Given the description of an element on the screen output the (x, y) to click on. 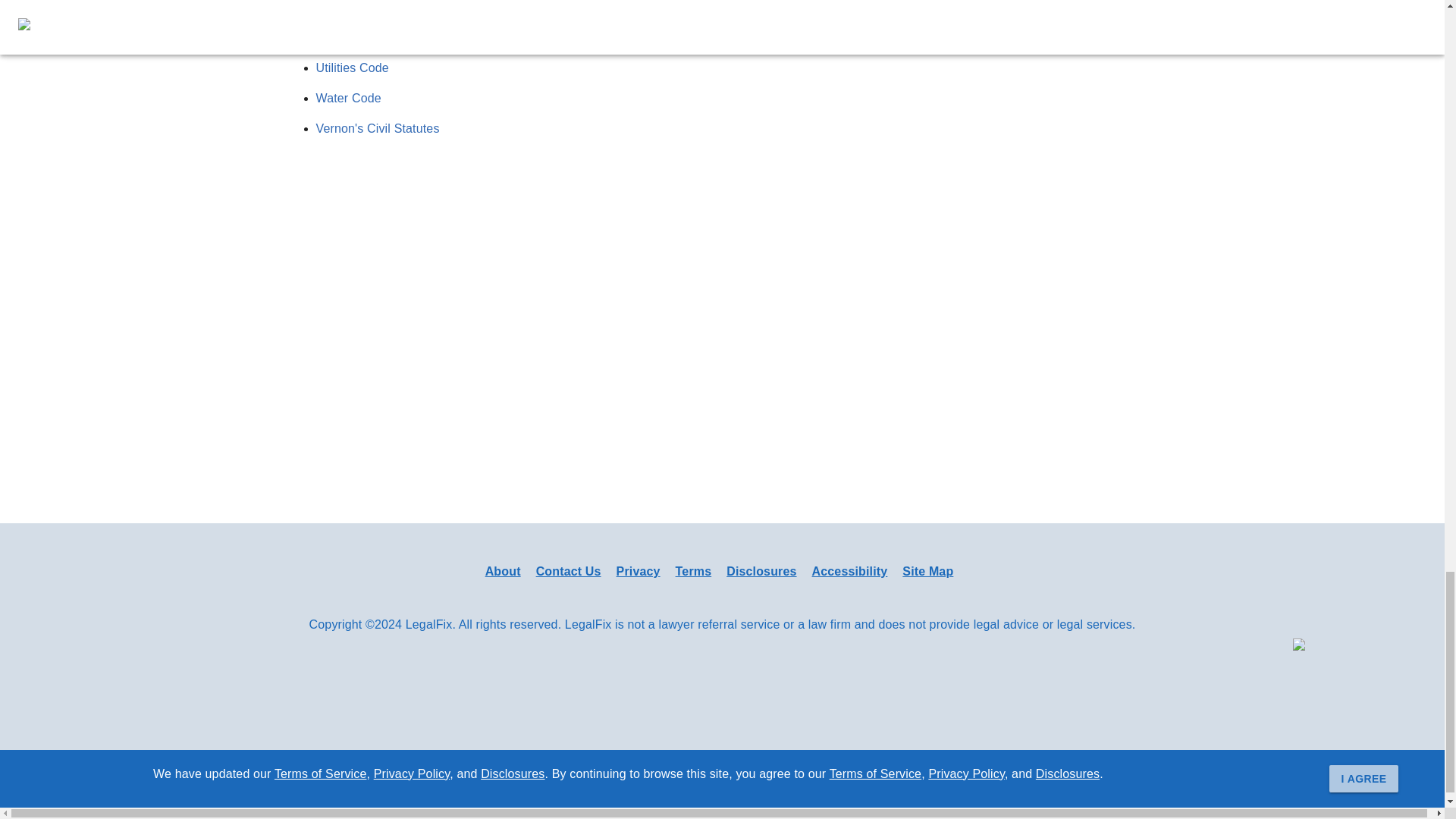
Tax Code (341, 6)
Transportation Code (371, 37)
Utilities Code (351, 67)
